Given the description of an element on the screen output the (x, y) to click on. 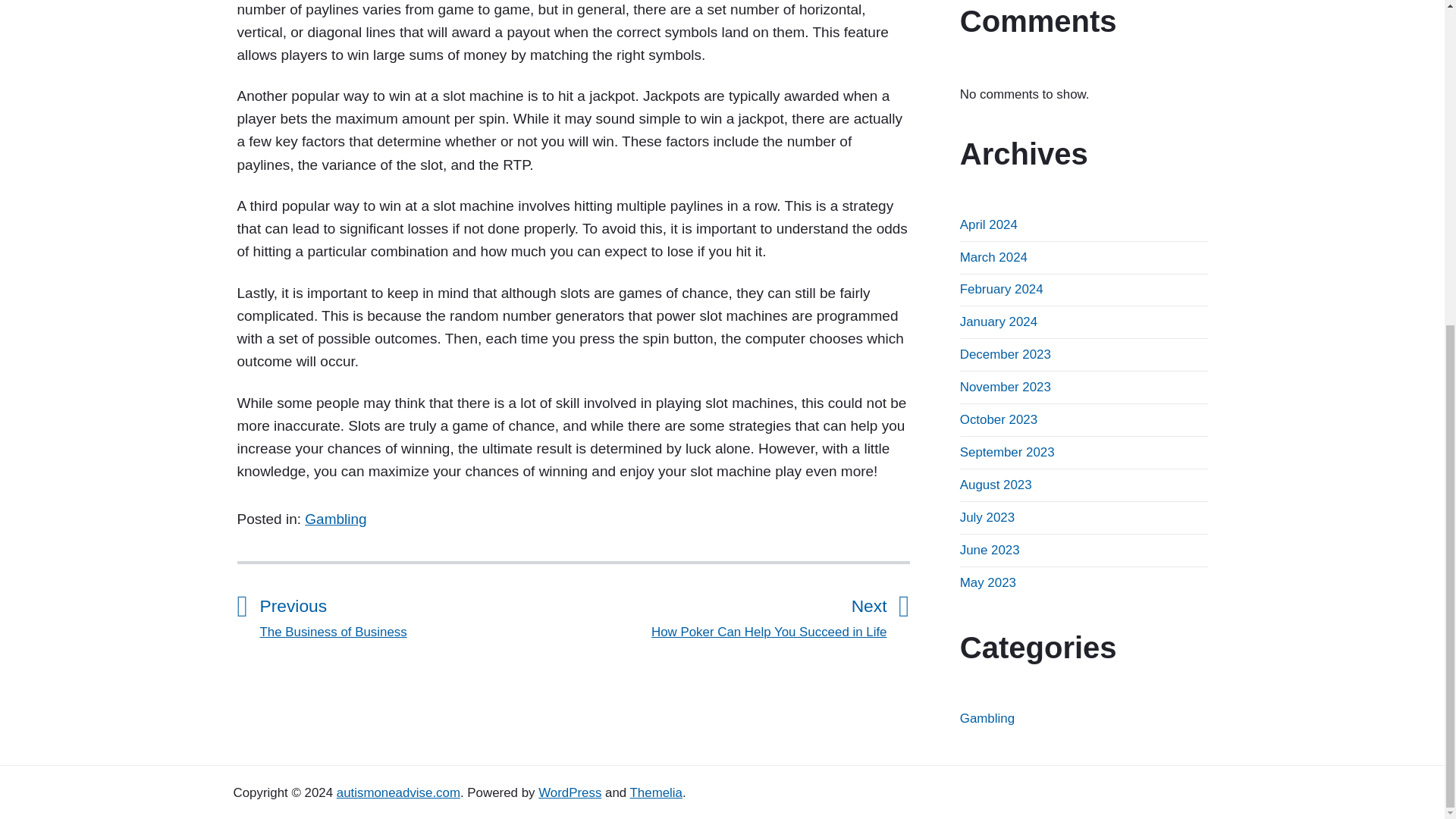
August 2023 (995, 484)
WordPress (569, 792)
July 2023 (986, 517)
Themelia (729, 614)
December 2023 (656, 792)
May 2023 (1005, 354)
June 2023 (416, 614)
Gambling (987, 582)
November 2023 (989, 549)
October 2023 (986, 718)
autismoneadvise.com (1005, 386)
Gambling (997, 419)
January 2024 (398, 792)
